Given the description of an element on the screen output the (x, y) to click on. 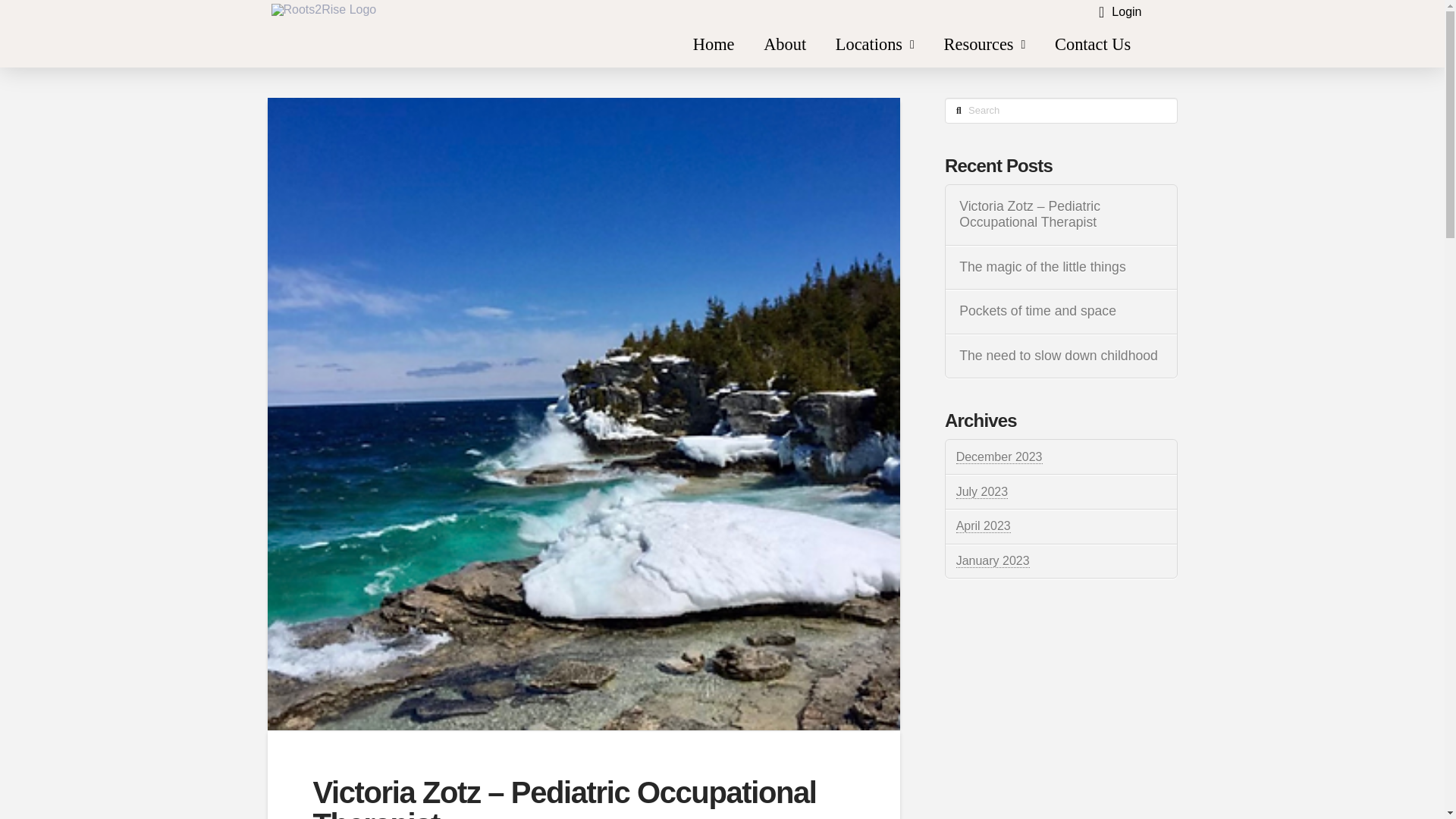
Home (713, 44)
Pockets of time and space (1060, 311)
April 2023 (983, 526)
The magic of the little things (1060, 267)
December 2023 (999, 457)
The need to slow down childhood (1060, 355)
Resources (984, 44)
January 2023 (992, 561)
Contact Us (1093, 44)
July 2023 (982, 491)
Login (1119, 11)
Locations (874, 44)
About (785, 44)
